Given the description of an element on the screen output the (x, y) to click on. 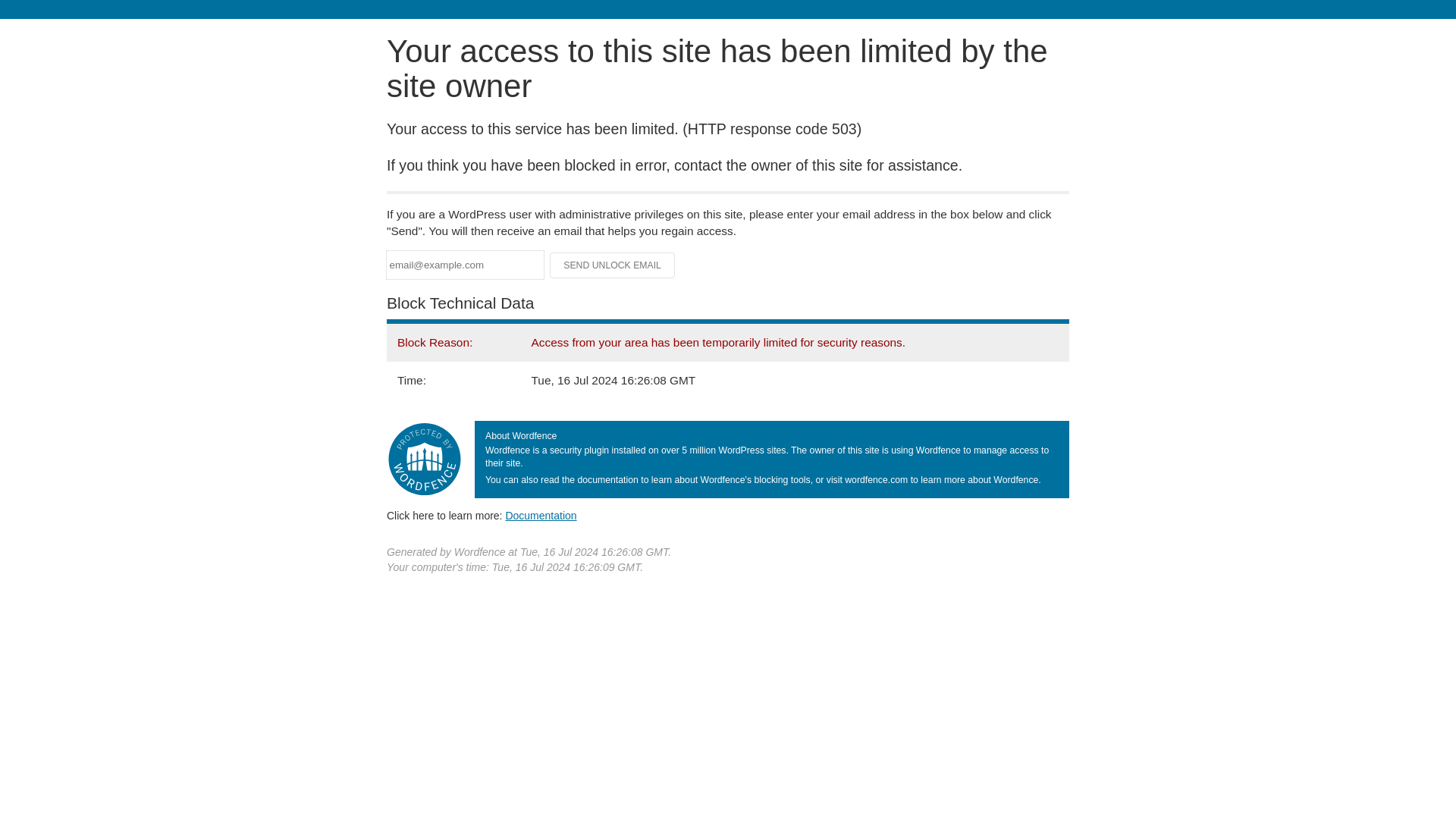
Send Unlock Email (612, 265)
Send Unlock Email (612, 265)
Documentation (540, 515)
